Given the description of an element on the screen output the (x, y) to click on. 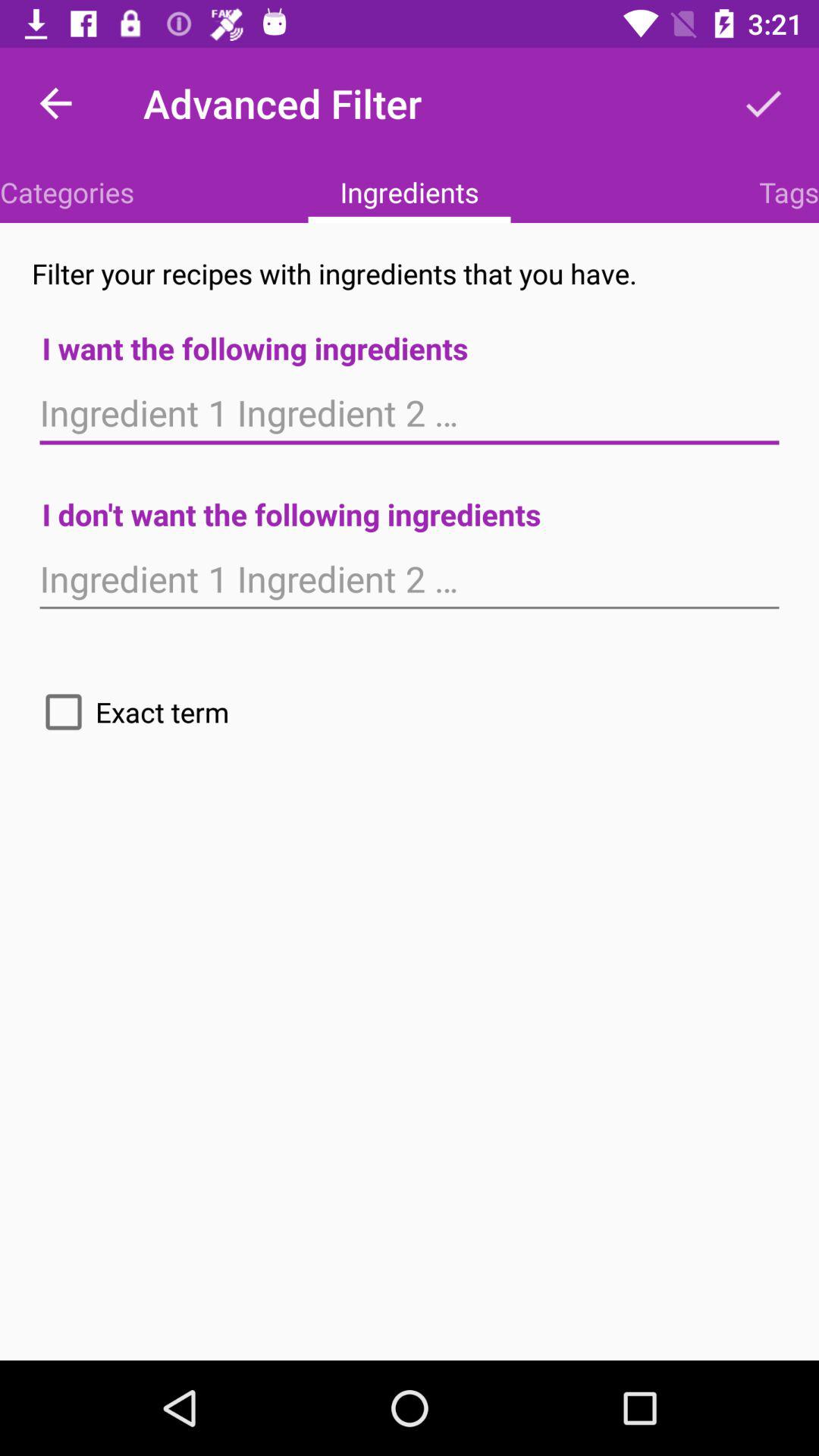
open the exact term icon (130, 711)
